Given the description of an element on the screen output the (x, y) to click on. 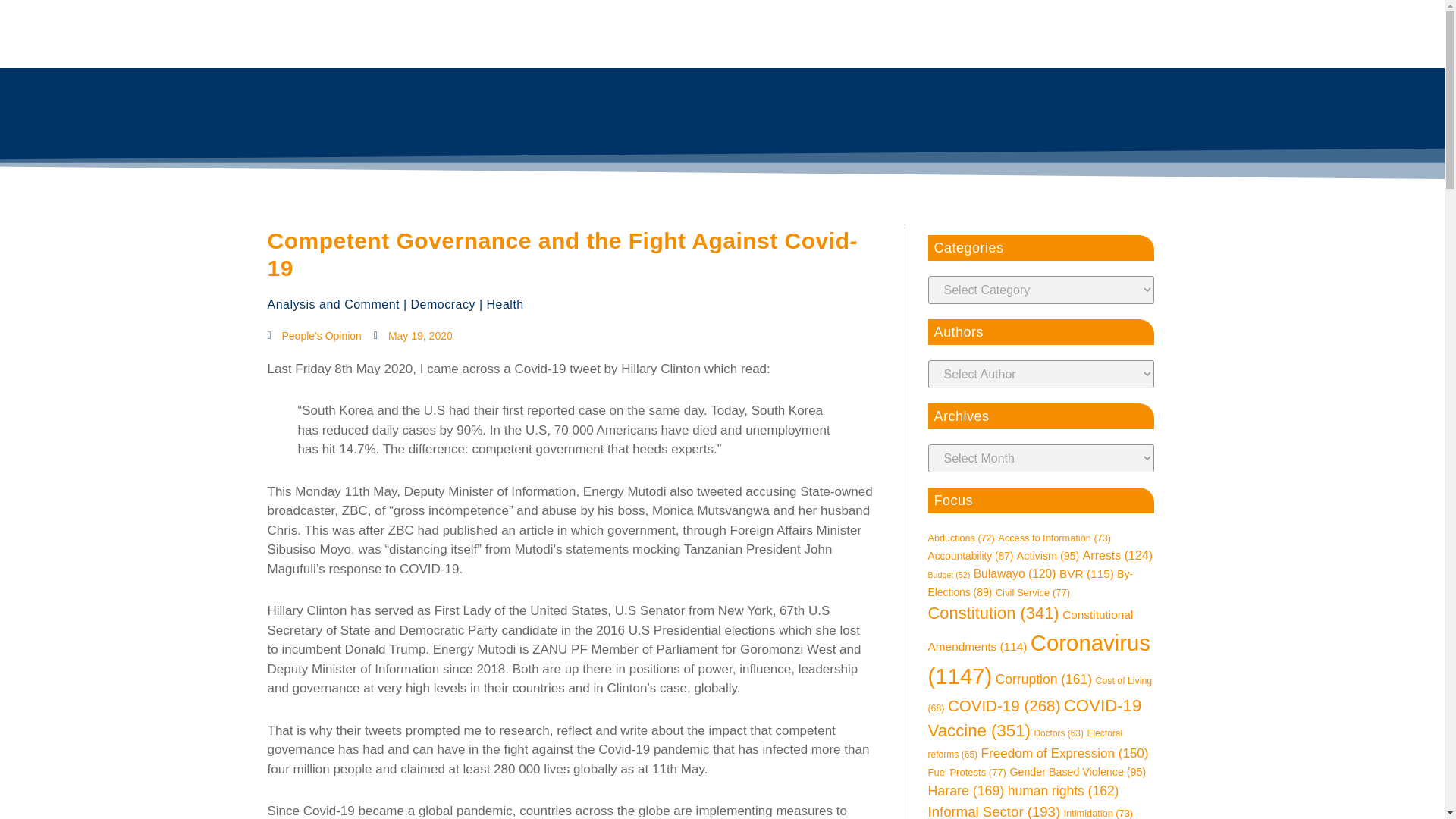
Health (505, 304)
Analysis and Comment (332, 304)
Democracy (443, 304)
May 19, 2020 (413, 335)
People's Opinion (313, 335)
